Given the description of an element on the screen output the (x, y) to click on. 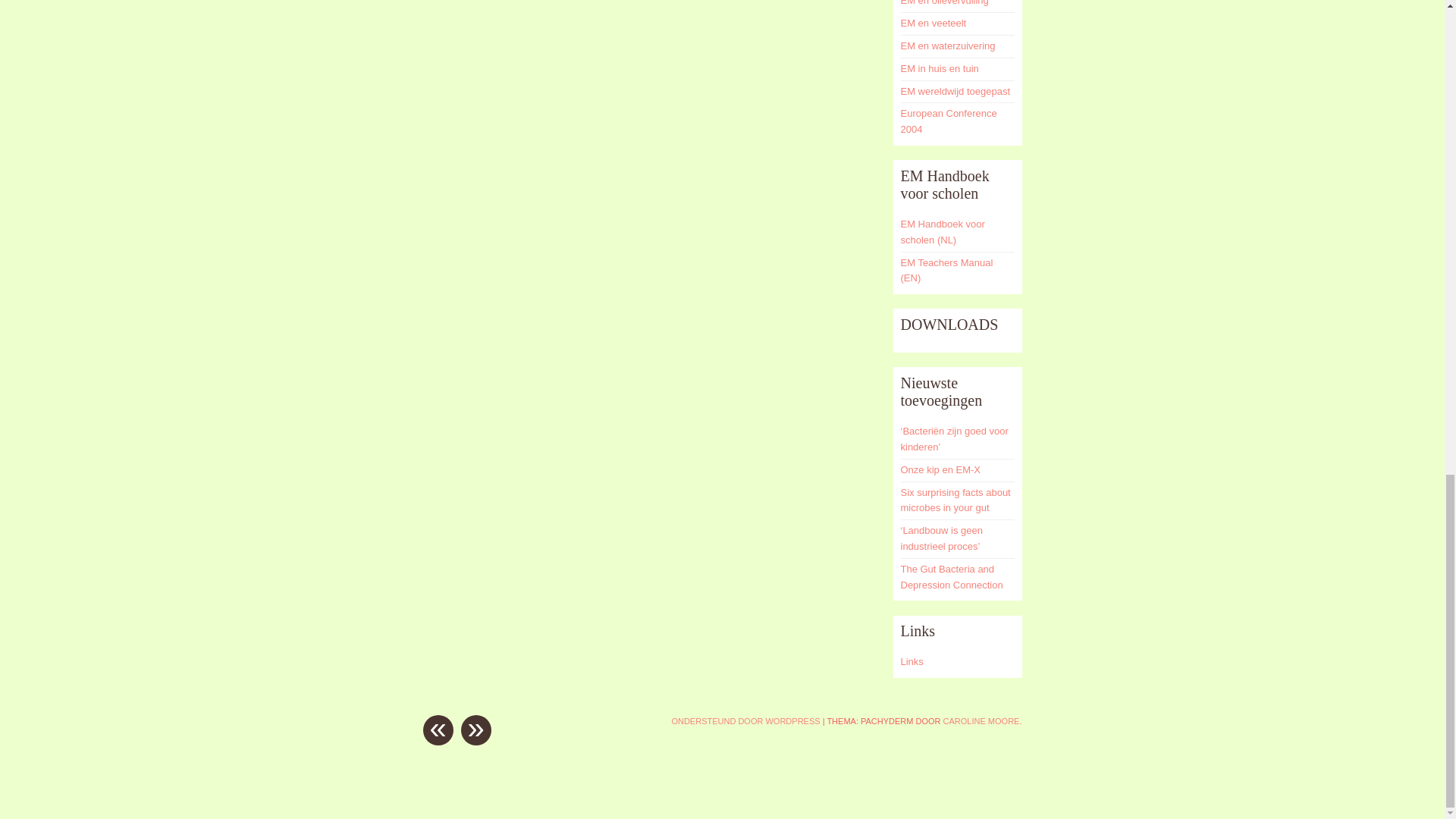
Een semantisch persoonlijk publicatieplatform (745, 720)
